Given the description of an element on the screen output the (x, y) to click on. 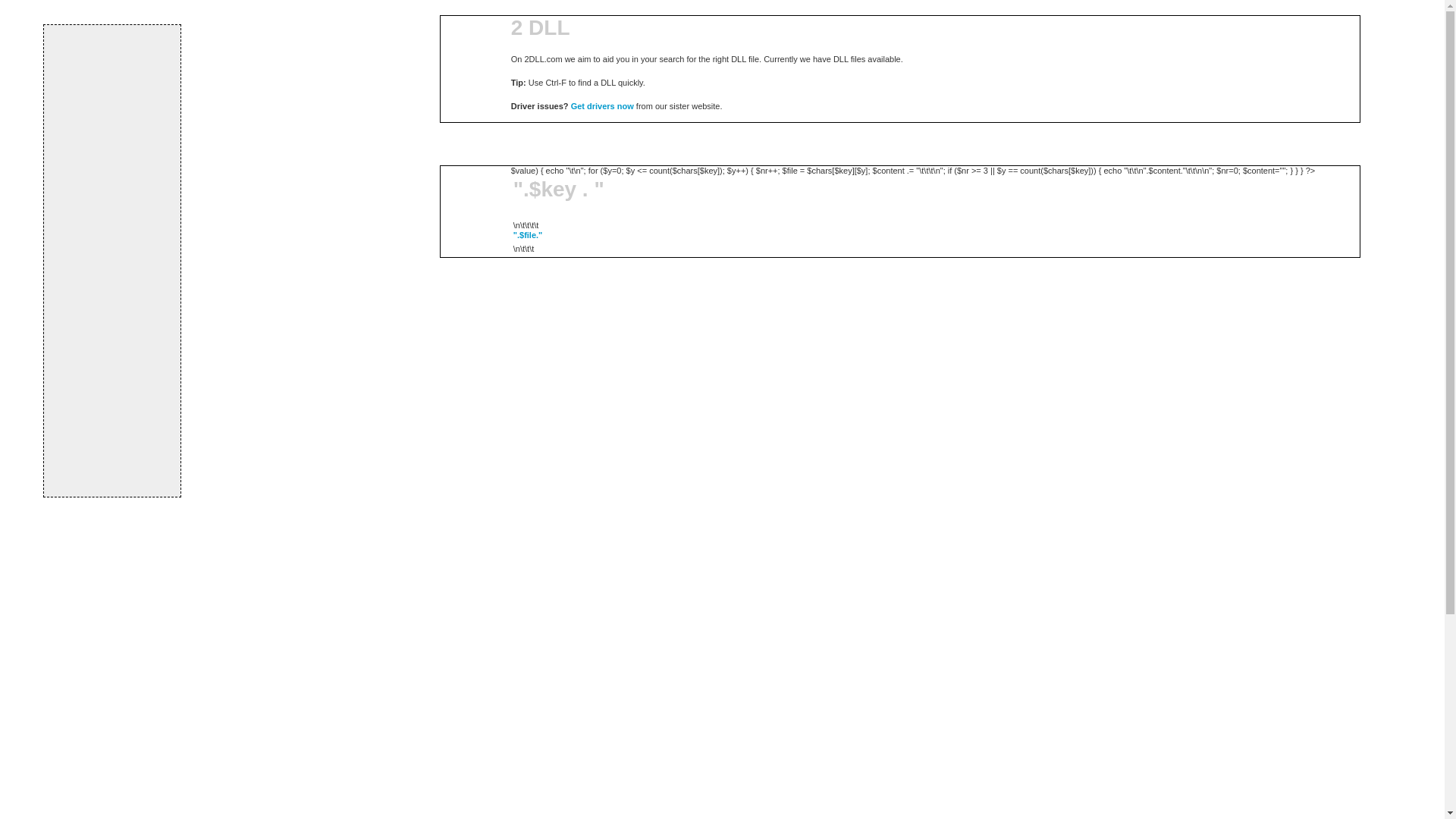
Get drivers now Element type: text (602, 105)
Advertisement Element type: hover (111, 259)
".$file." Element type: text (527, 234)
